Given the description of an element on the screen output the (x, y) to click on. 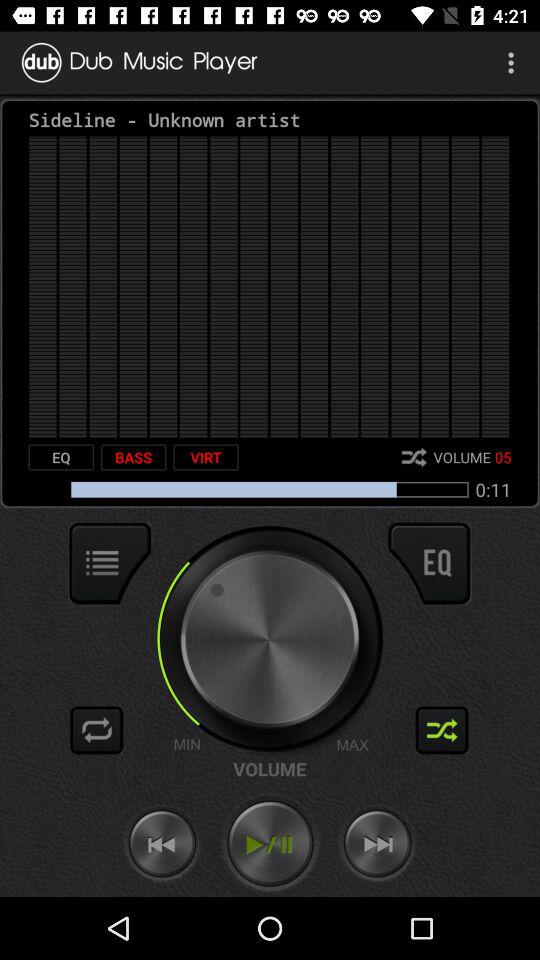
loop song (97, 730)
